Given the description of an element on the screen output the (x, y) to click on. 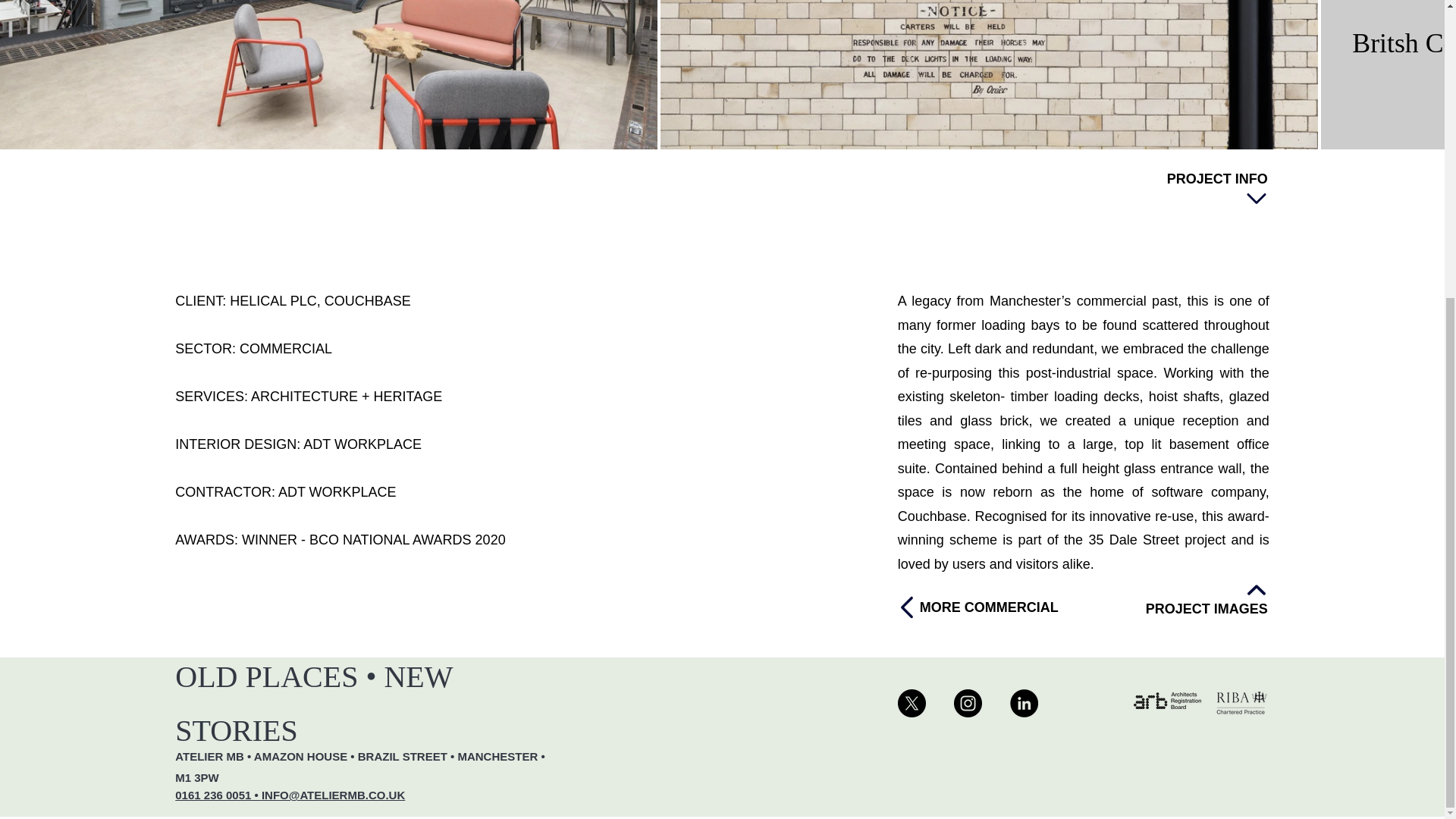
35 Dale Street (1133, 539)
PROJECT IMAGES (1082, 597)
WINNER - BCO NATIONAL AWARDS 2020 (373, 539)
MORE COMMERCIAL (993, 607)
PROJECT INFO (1217, 190)
